Given the description of an element on the screen output the (x, y) to click on. 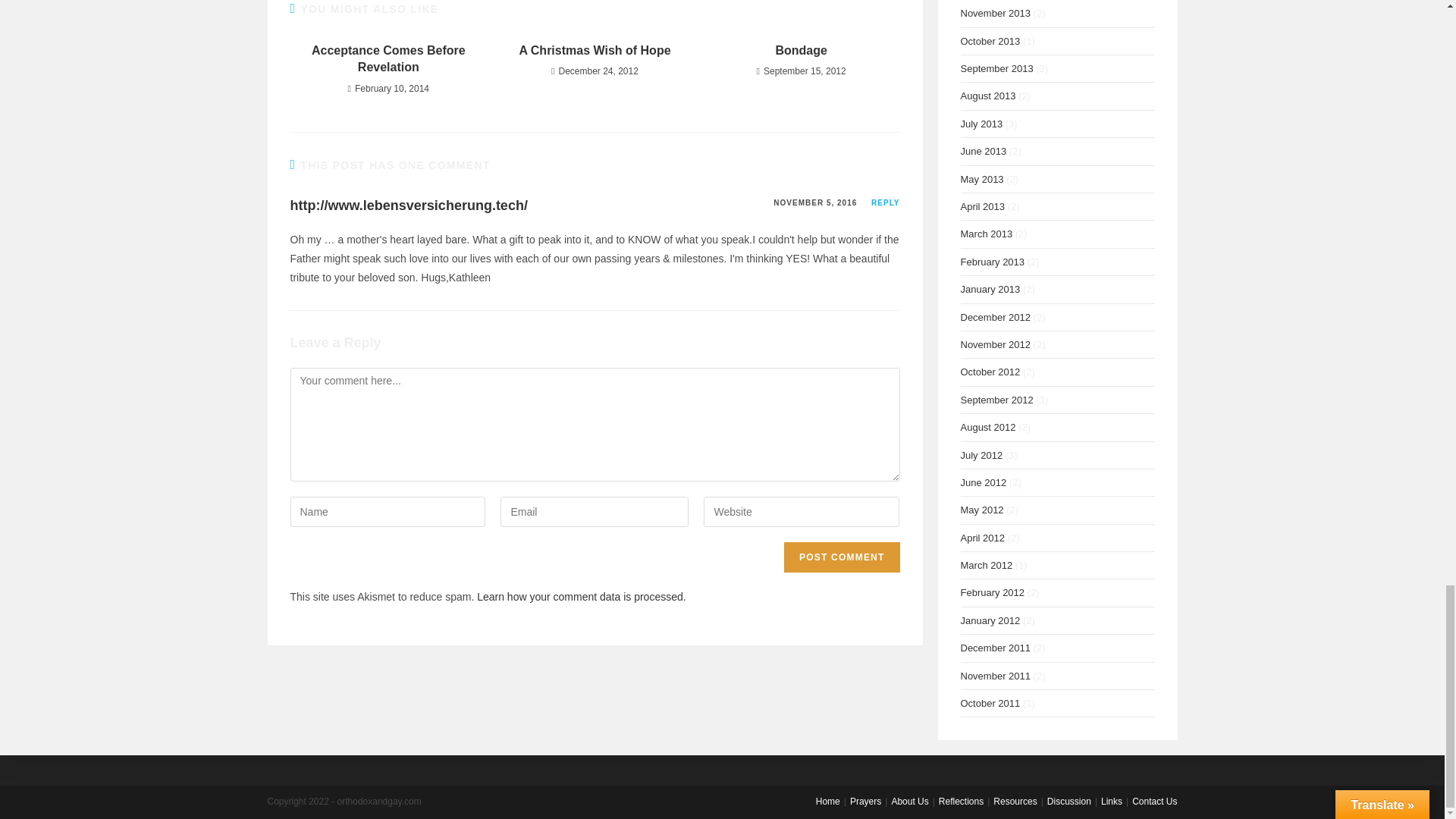
REPLY (884, 203)
Post Comment (841, 557)
Bondage (801, 50)
Learn how your comment data is processed (579, 596)
Acceptance Comes Before Revelation (387, 59)
A Christmas Wish of Hope (594, 50)
Post Comment (841, 557)
